Given the description of an element on the screen output the (x, y) to click on. 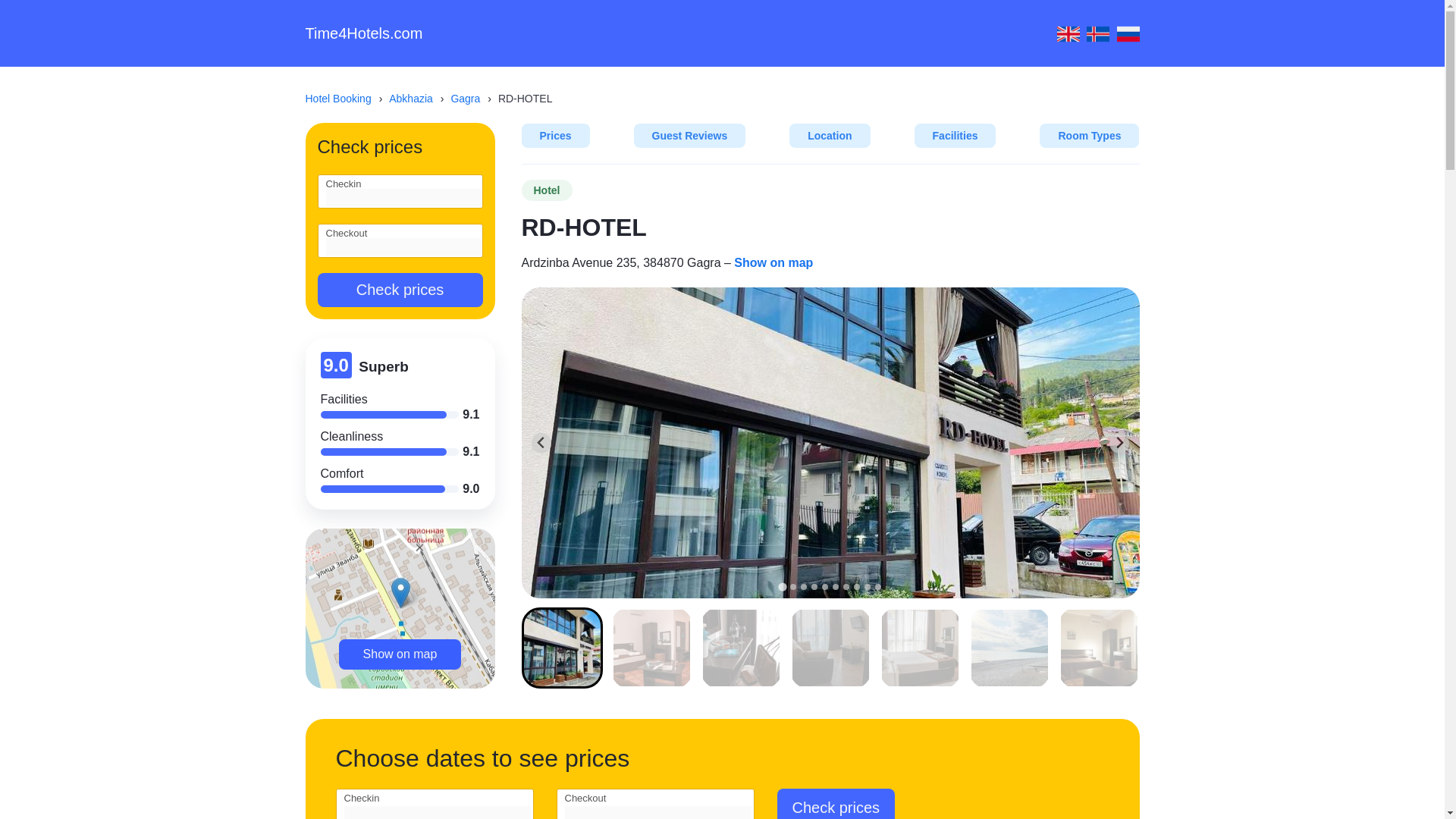
Check prices (399, 289)
Abkhazia (417, 98)
Time4Hotels.com (363, 33)
Hotel Booking (344, 98)
Prices (555, 135)
Room Types (1088, 135)
Gagra (472, 98)
Location (829, 135)
Facilities (954, 135)
Check prices (835, 803)
Guest Reviews (689, 135)
Show on map (772, 262)
Show on map (400, 654)
